Given the description of an element on the screen output the (x, y) to click on. 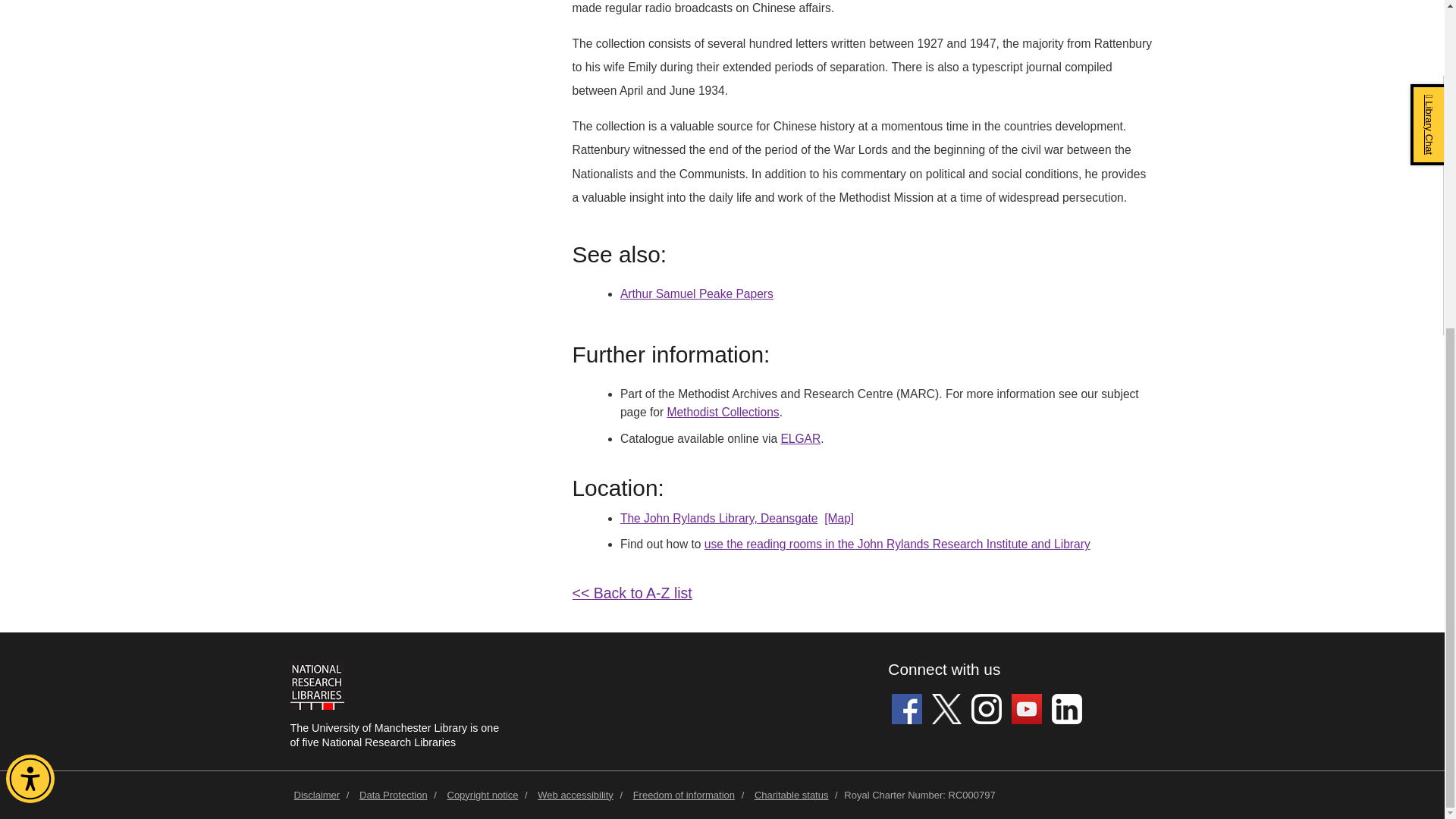
Accessibility Menu (30, 236)
Arthur Samuel Peake Papers (696, 293)
back (631, 592)
The John Rylands Library, Deansgate (719, 517)
